Given the description of an element on the screen output the (x, y) to click on. 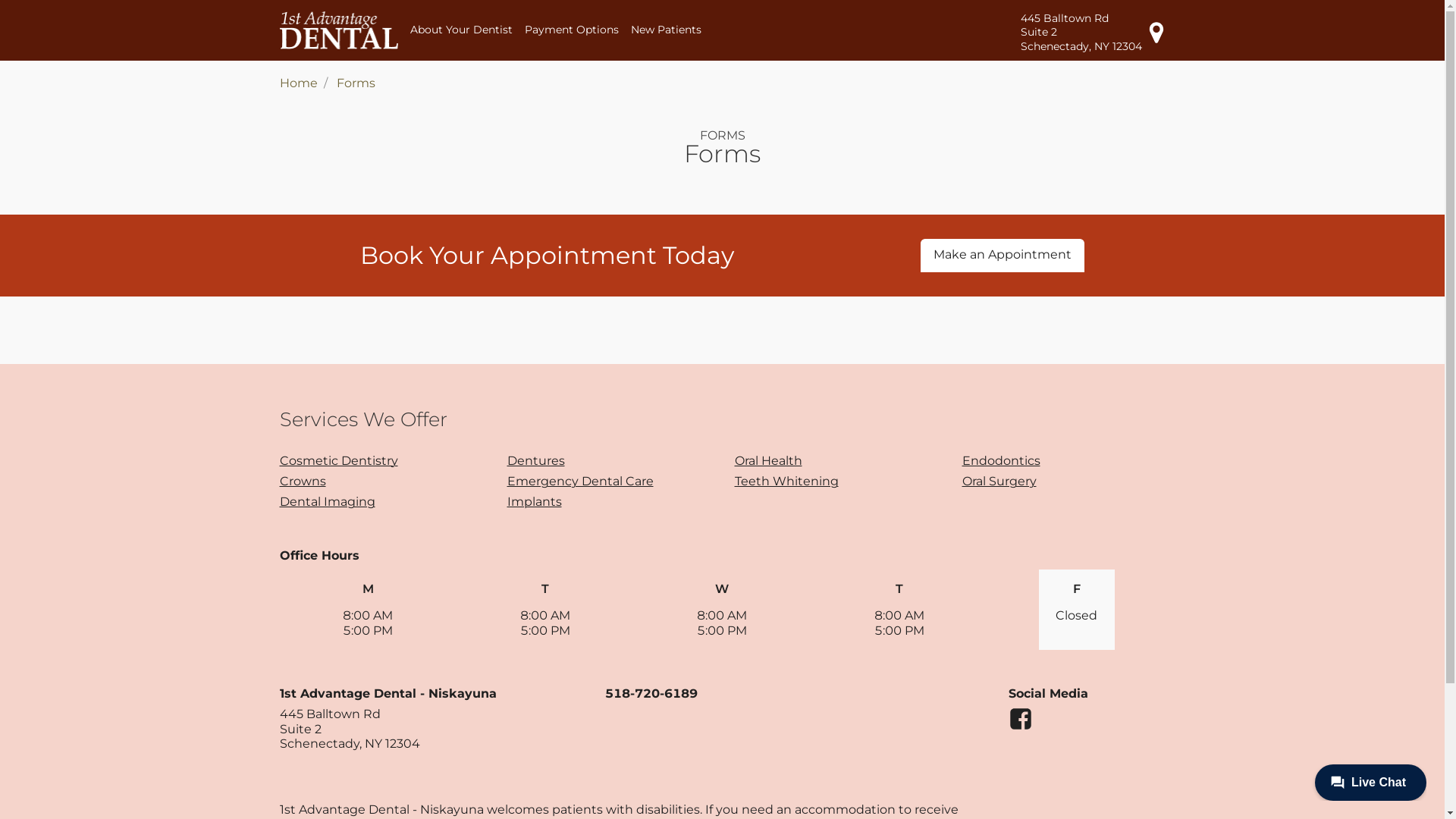
Dentures Element type: text (535, 460)
Oral Surgery Element type: text (998, 480)
Crowns Element type: text (302, 480)
Payment Options Element type: text (571, 29)
Oral Health Element type: text (767, 460)
Home Element type: text (297, 82)
Cosmetic Dentistry Element type: text (338, 460)
About Your Dentist Element type: text (461, 29)
Make an Appointment Element type: text (1002, 254)
New Patients Element type: text (665, 29)
Endodontics Element type: text (1000, 460)
Emergency Dental Care Element type: text (579, 480)
Forms Element type: text (355, 82)
518-720-6189 Element type: text (651, 693)
Facebook Element type: hover (1020, 726)
Teeth Whitening Element type: text (785, 480)
Implants Element type: text (533, 501)
445 Balltown Rd
Suite 2
Schenectady, NY 12304 Element type: text (1092, 32)
Dental Imaging Element type: text (326, 501)
